Given the description of an element on the screen output the (x, y) to click on. 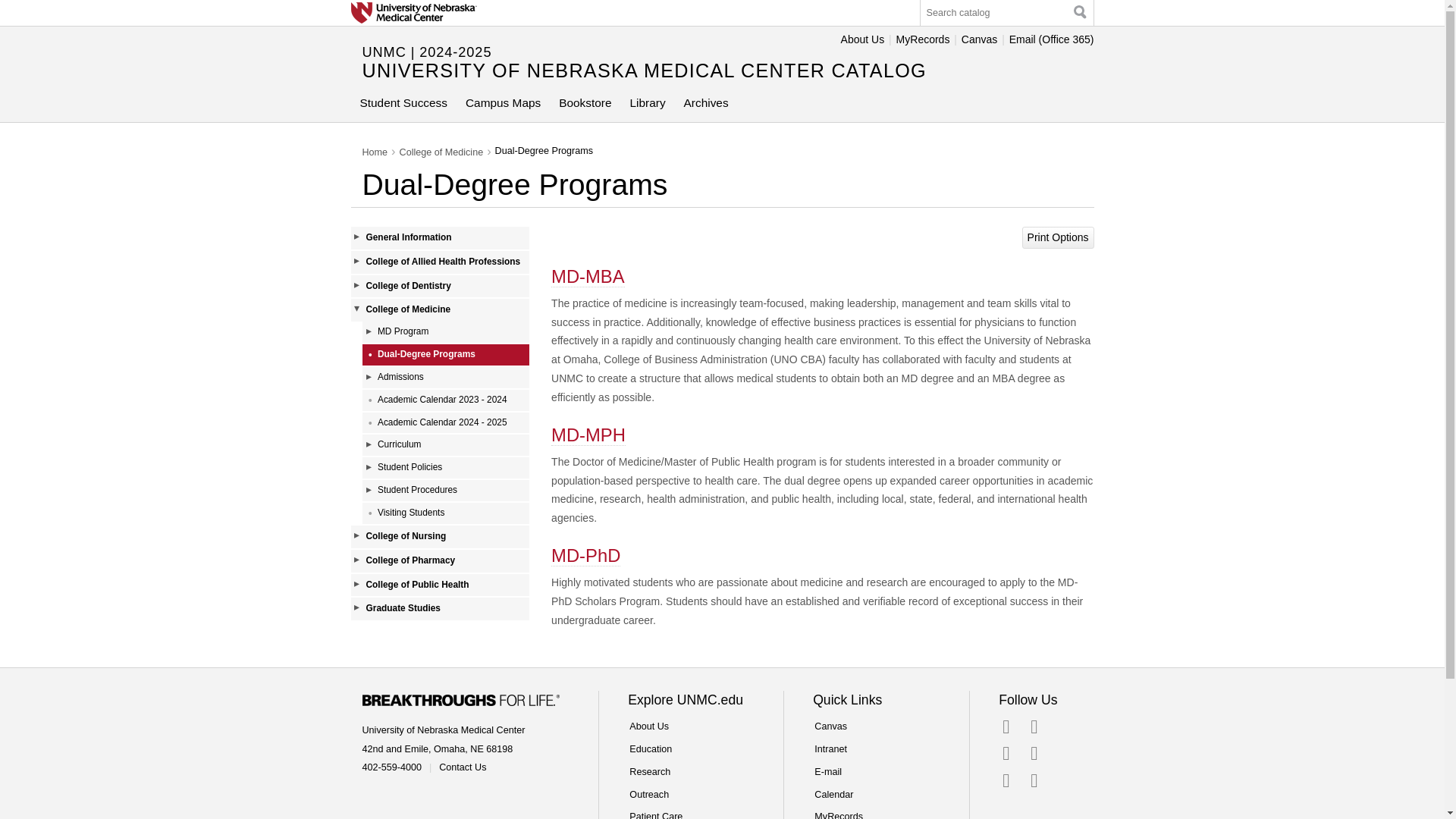
Curriculum (445, 444)
Library (648, 104)
Campus Maps (503, 104)
Bookstore (585, 104)
College of Pharmacy (439, 560)
Canvas (978, 39)
Admissions (445, 377)
Archives (706, 104)
About Us (863, 39)
Student Success (403, 104)
Graduate Studies (439, 608)
Home (375, 152)
College of Dentistry (439, 286)
College of Public Health (439, 585)
Print Options (1058, 237)
